Given the description of an element on the screen output the (x, y) to click on. 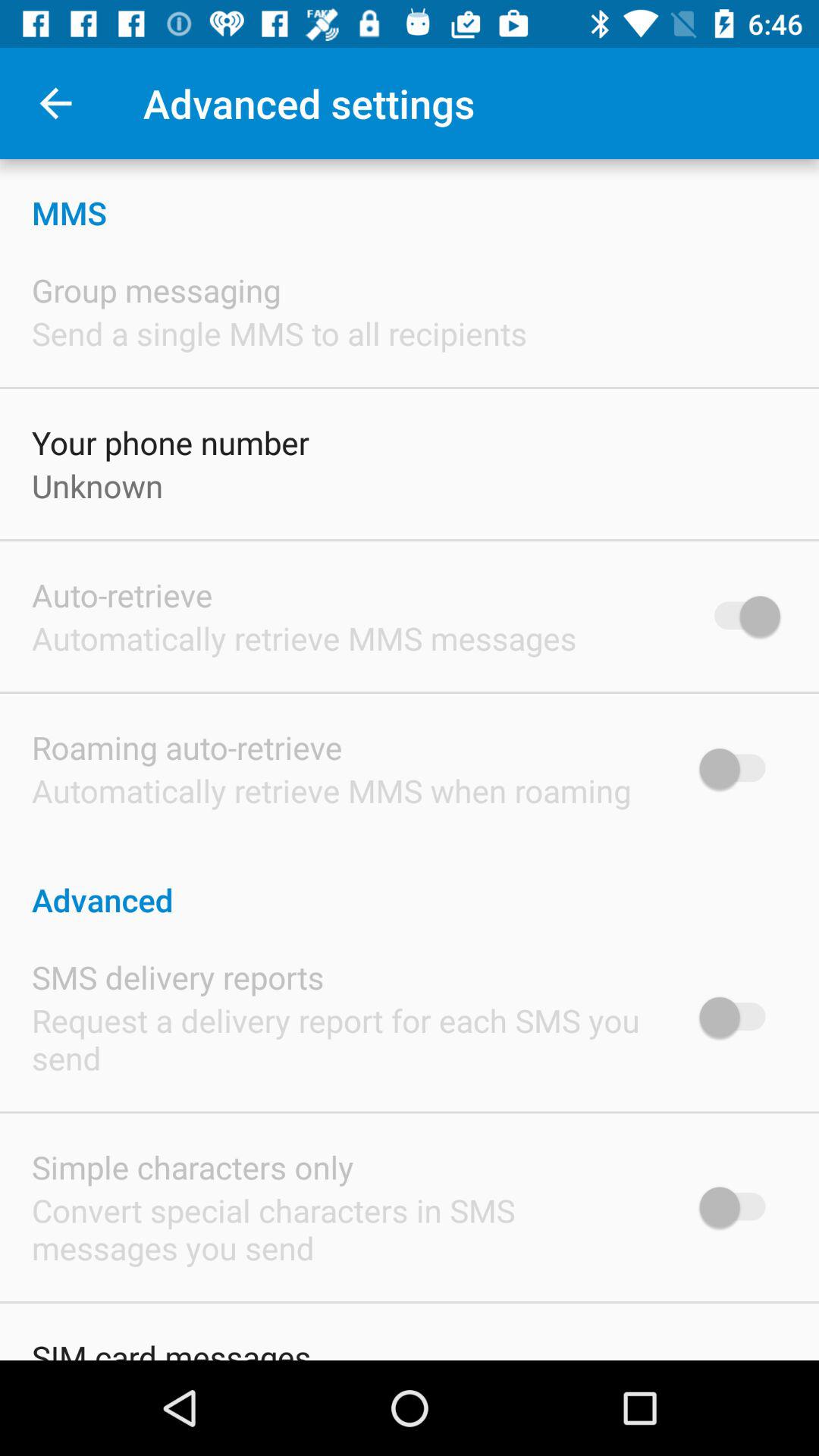
tap sim card messages icon (171, 1347)
